Given the description of an element on the screen output the (x, y) to click on. 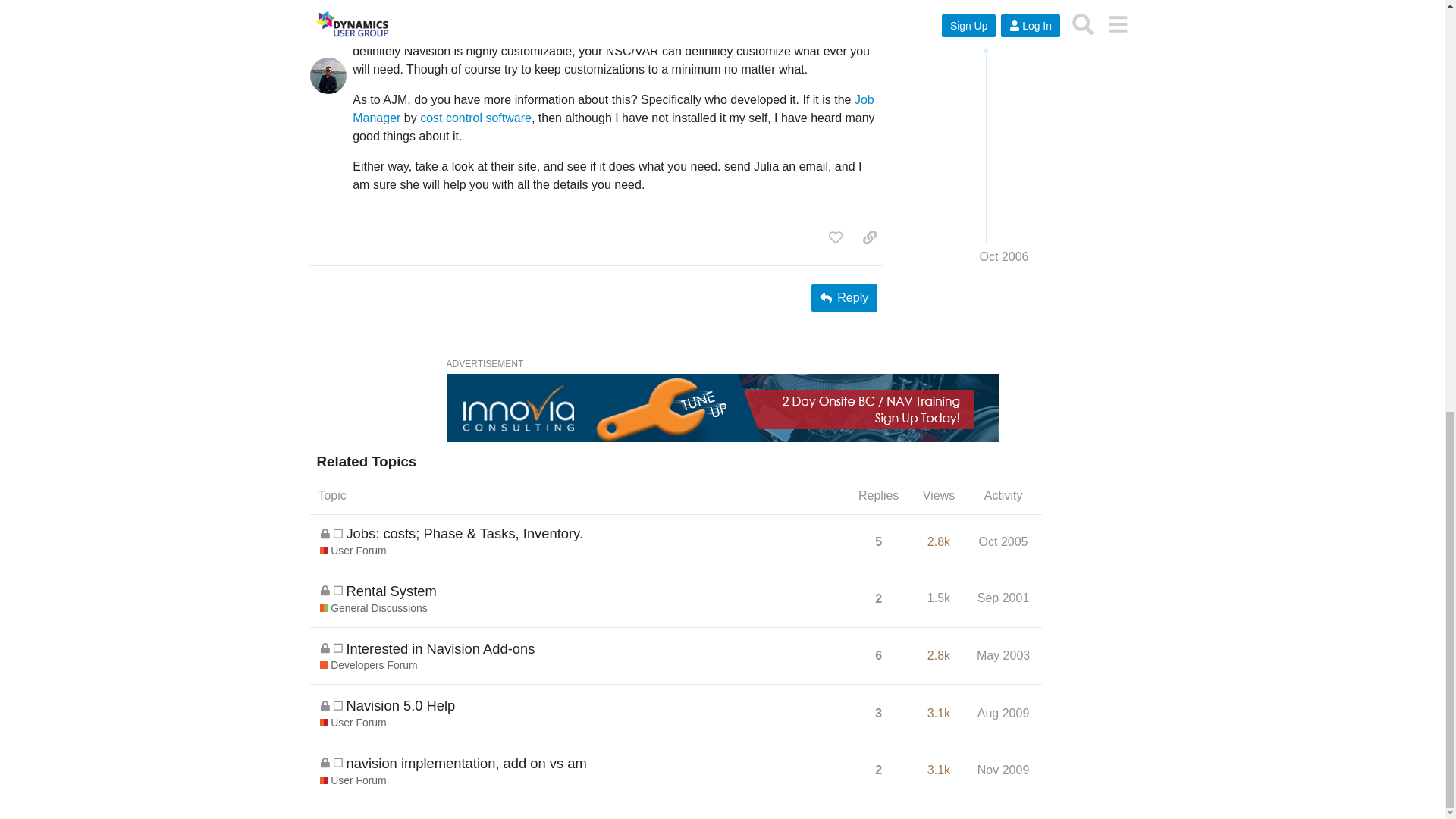
Reply (843, 298)
5 (877, 541)
2 (877, 598)
Sep 2001 (1003, 597)
Job Manager (612, 108)
General Discussions (374, 608)
User Forum (353, 550)
Interested in Navision Add-ons (440, 648)
cost control software (475, 117)
Oct 2005 (1003, 541)
Rental System (390, 590)
